Given the description of an element on the screen output the (x, y) to click on. 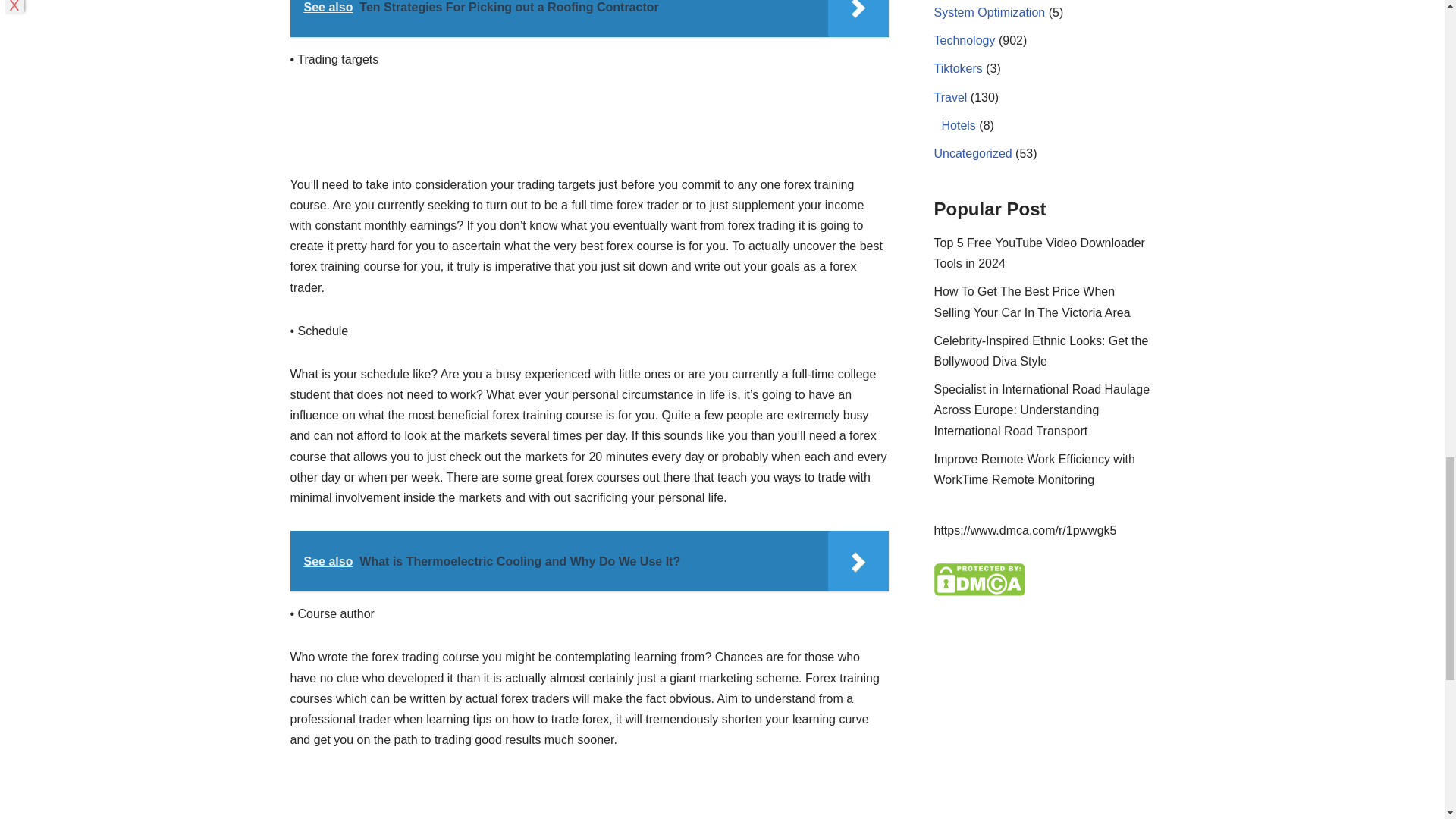
DMCA.com Protection Status (979, 591)
